Given the description of an element on the screen output the (x, y) to click on. 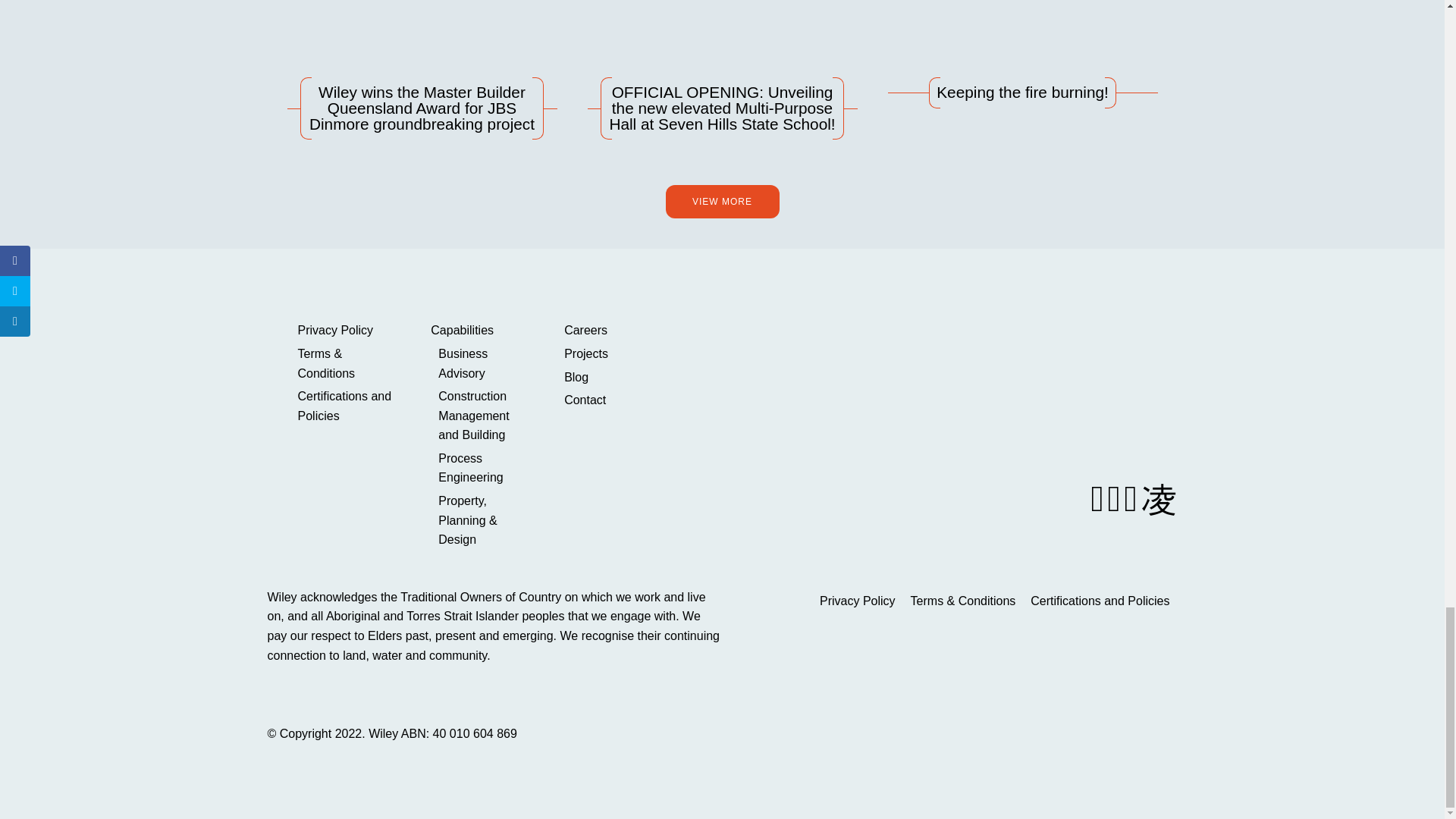
Construction Management and Building (481, 415)
VIEW MORE (721, 201)
Process Engineering (481, 467)
Business Advisory (481, 363)
Privacy Policy (345, 330)
Capabilities (477, 330)
Privacy Policy (345, 330)
Business Advisory (481, 363)
Certifications and Policies (345, 405)
